Given the description of an element on the screen output the (x, y) to click on. 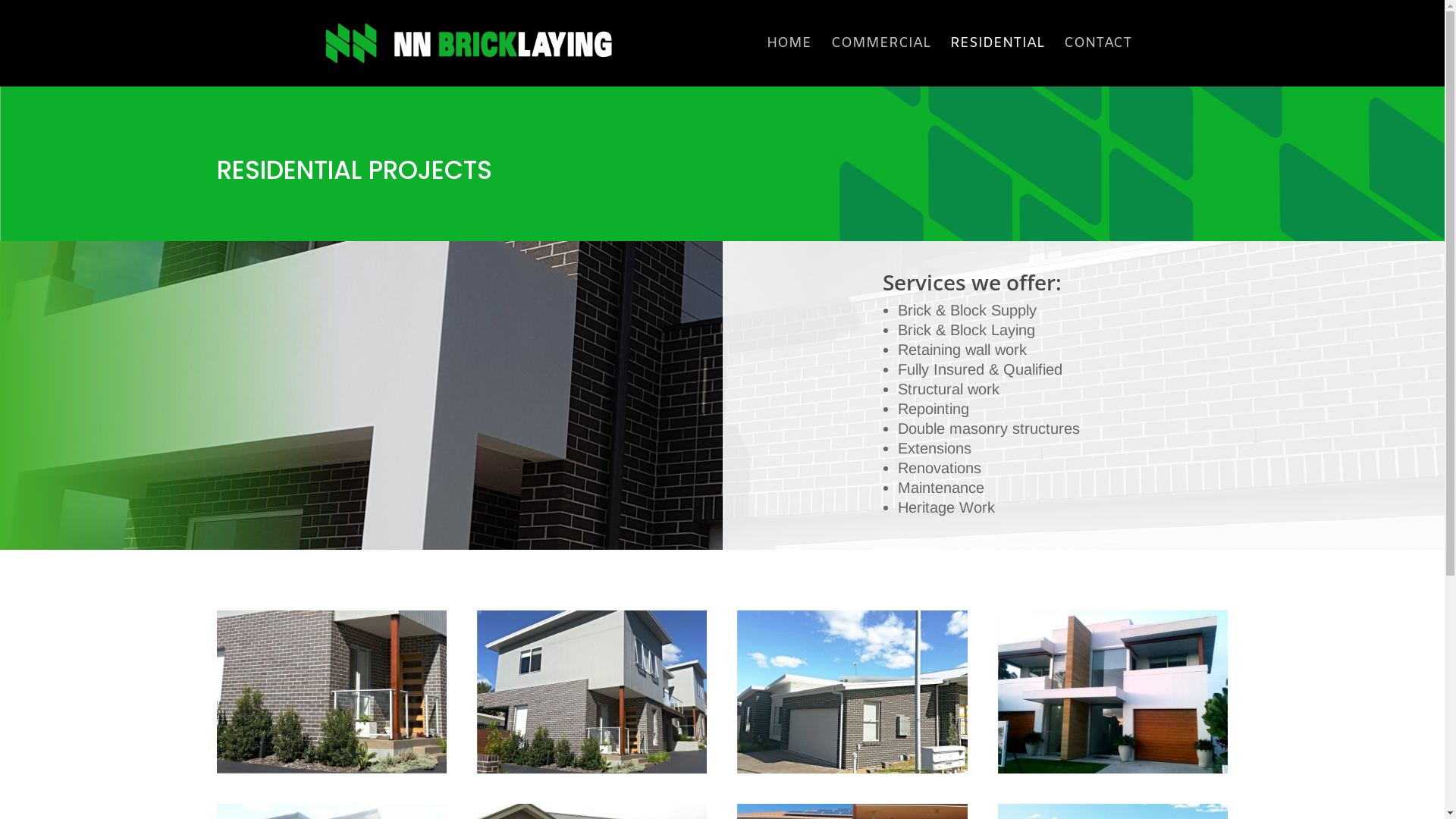
COMMERCIAL Element type: text (880, 61)
project3 Element type: hover (851, 769)
project4 Element type: hover (591, 769)
COMMERCIAL Element type: hover (331, 769)
HOME Element type: text (787, 61)
project6 Element type: hover (1112, 769)
RESIDENTIAL Element type: text (996, 61)
CONTACT Element type: text (1097, 61)
